Given the description of an element on the screen output the (x, y) to click on. 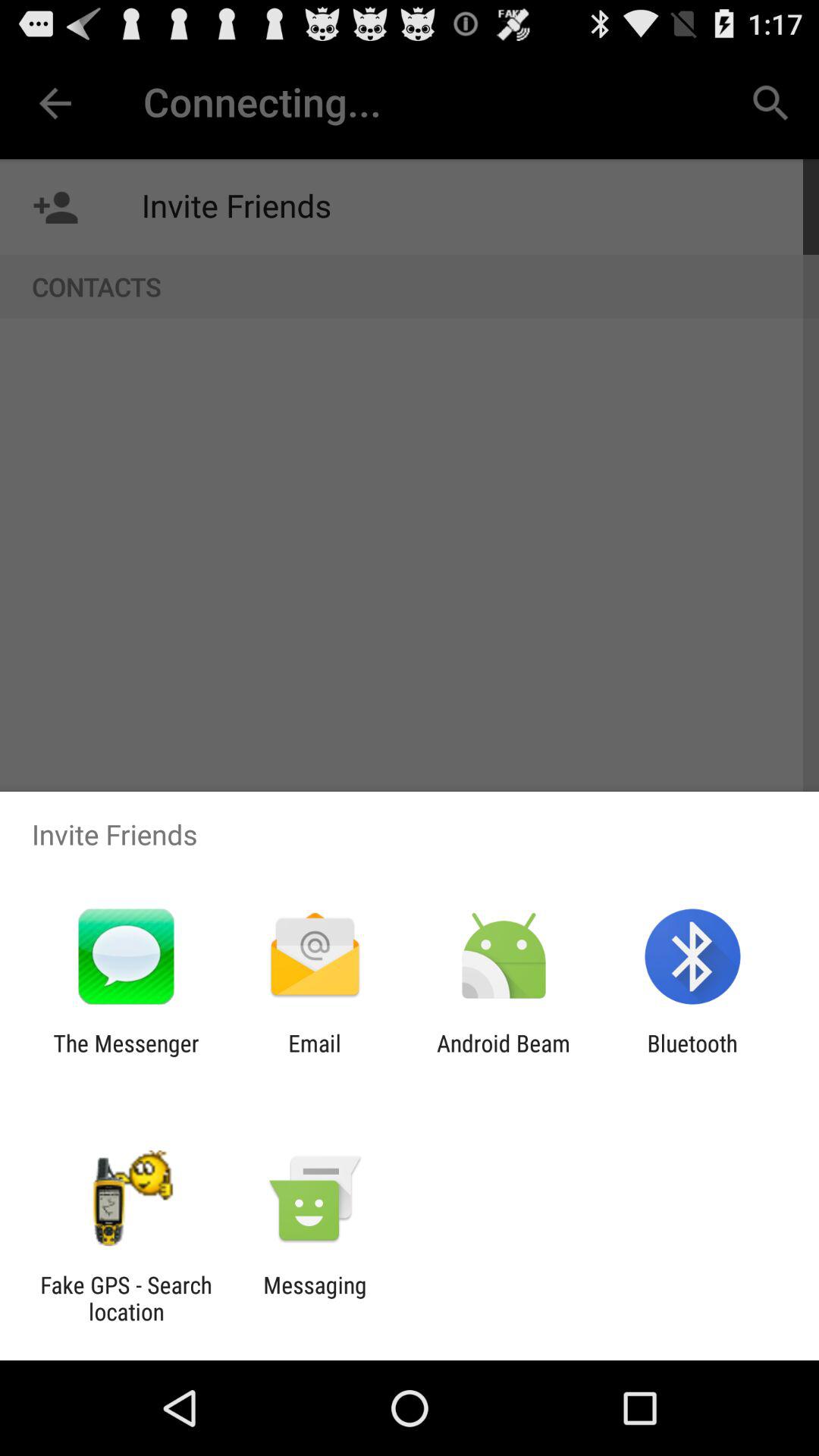
turn off icon next to the bluetooth icon (503, 1056)
